Given the description of an element on the screen output the (x, y) to click on. 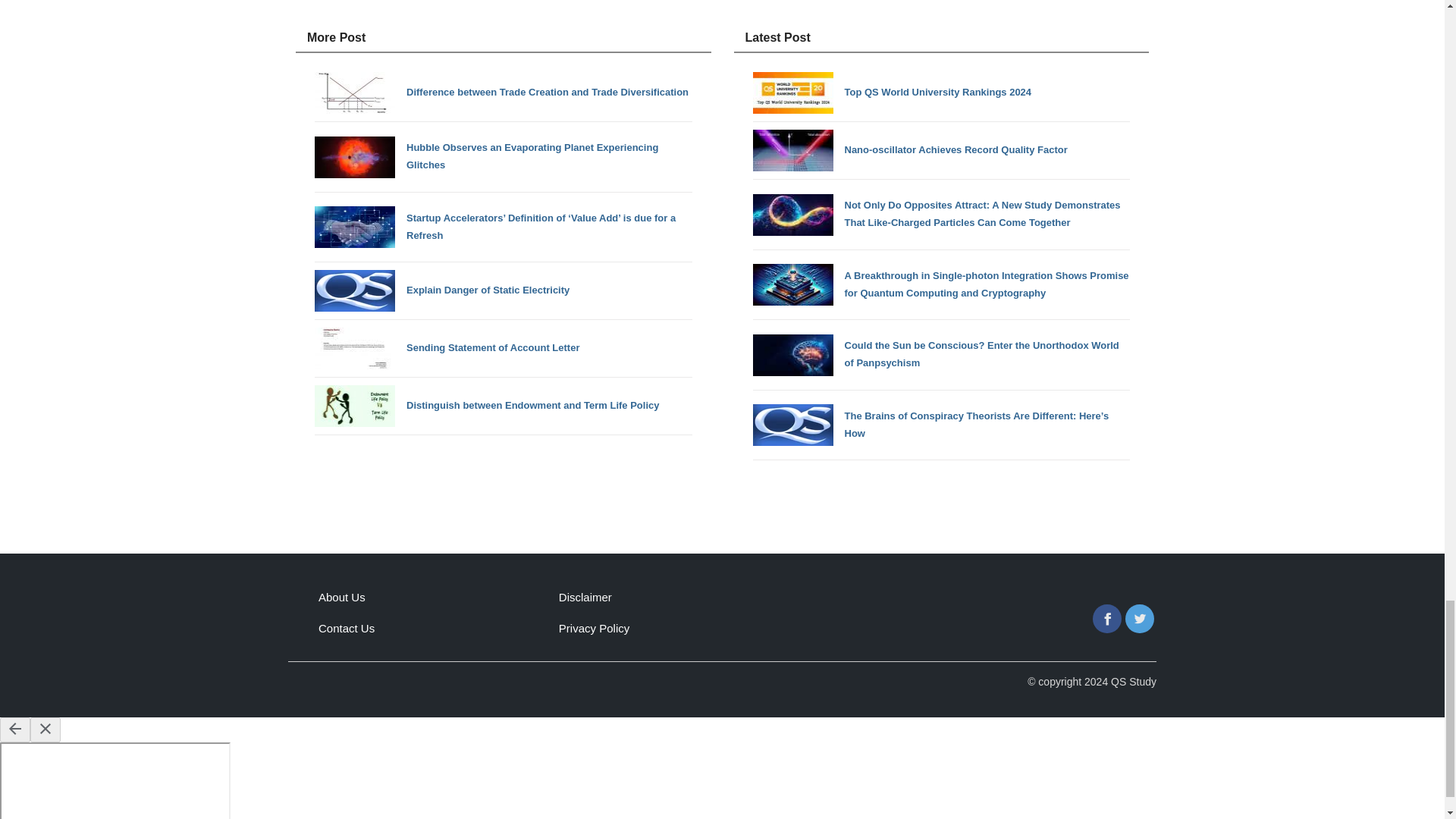
Top QS World University Rankings 2024 (940, 92)
Difference between Trade Creation and Trade Diversification (503, 92)
Hubble Observes an Evaporating Planet Experiencing Glitches (503, 156)
Distinguish between Endowment and Term Life Policy (503, 405)
About Us (341, 596)
Sending Statement of Account Letter (503, 348)
Explain Danger of Static Electricity (503, 291)
Nano-oscillator Achieves Record Quality Factor (940, 150)
Contact Us (346, 627)
